Given the description of an element on the screen output the (x, y) to click on. 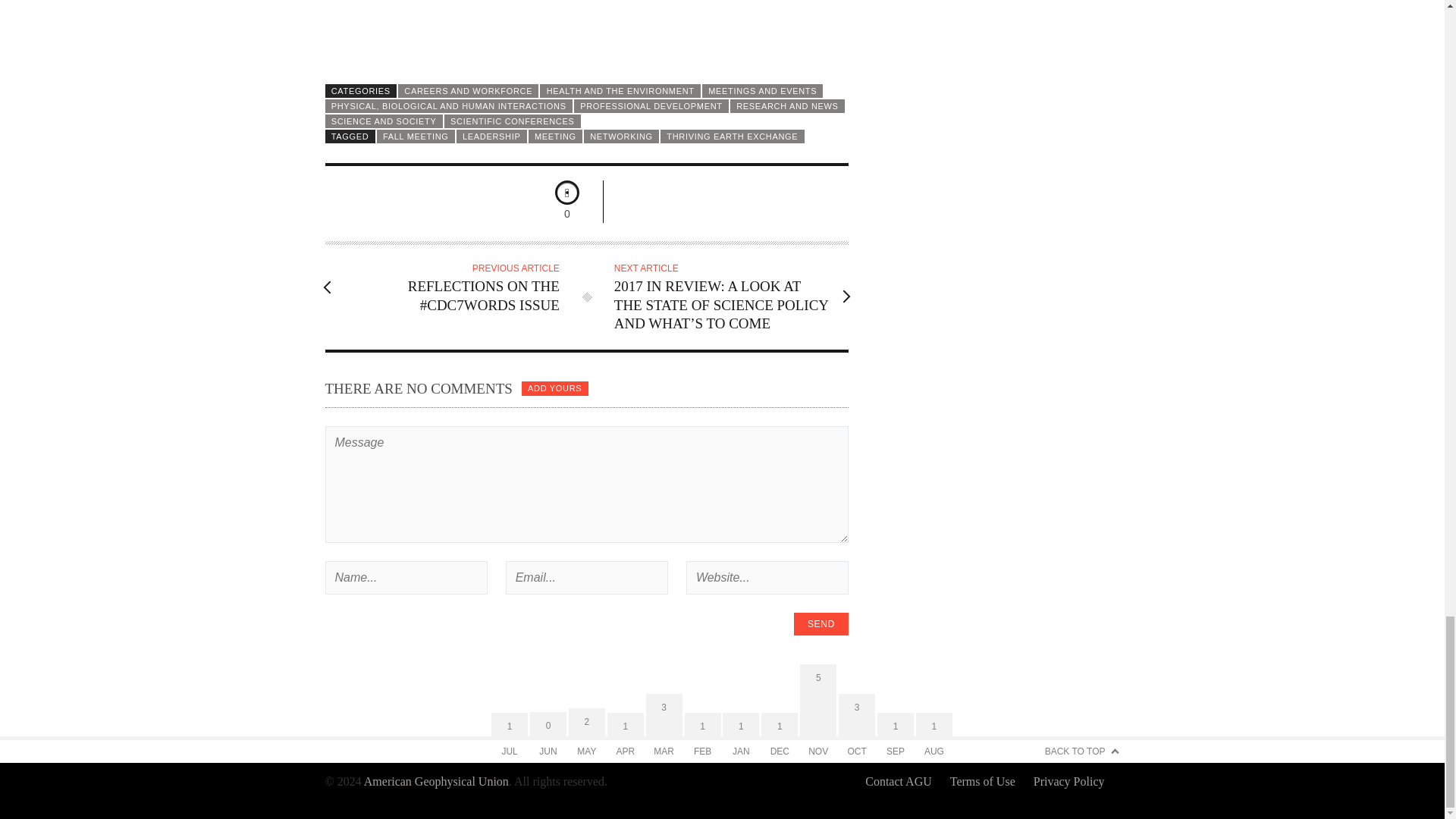
PHYSICAL, BIOLOGICAL AND HUMAN INTERACTIONS (448, 106)
LEADERSHIP (492, 136)
View all posts tagged Fall Meeting (415, 136)
MEETING (555, 136)
RESEARCH AND NEWS (787, 106)
View all posts in Health and the environment (620, 90)
MEETINGS AND EVENTS (762, 90)
View all posts tagged Thriving Earth Exchange (733, 136)
SCIENTIFIC CONFERENCES (512, 120)
THRIVING EARTH EXCHANGE (733, 136)
Send (820, 623)
HEALTH AND THE ENVIRONMENT (620, 90)
FALL MEETING (415, 136)
View all posts in Meetings and events (762, 90)
